Given the description of an element on the screen output the (x, y) to click on. 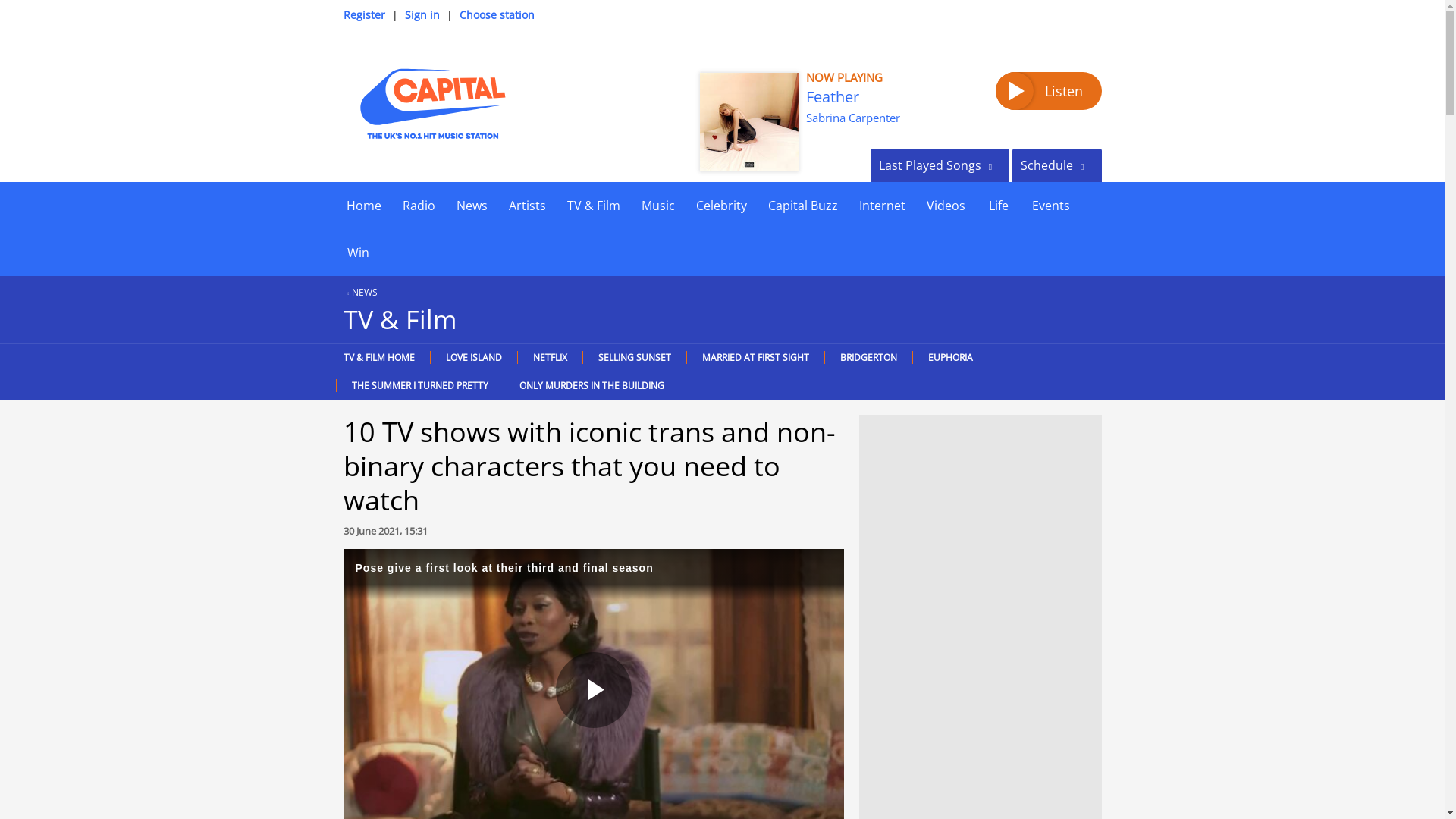
Music (657, 205)
Sign in (421, 14)
Internet (881, 205)
EUPHORIA (949, 357)
NEWS (359, 291)
Events (1050, 205)
News (471, 205)
Schedule (1055, 164)
Win (357, 252)
LOVE ISLAND (472, 357)
